Given the description of an element on the screen output the (x, y) to click on. 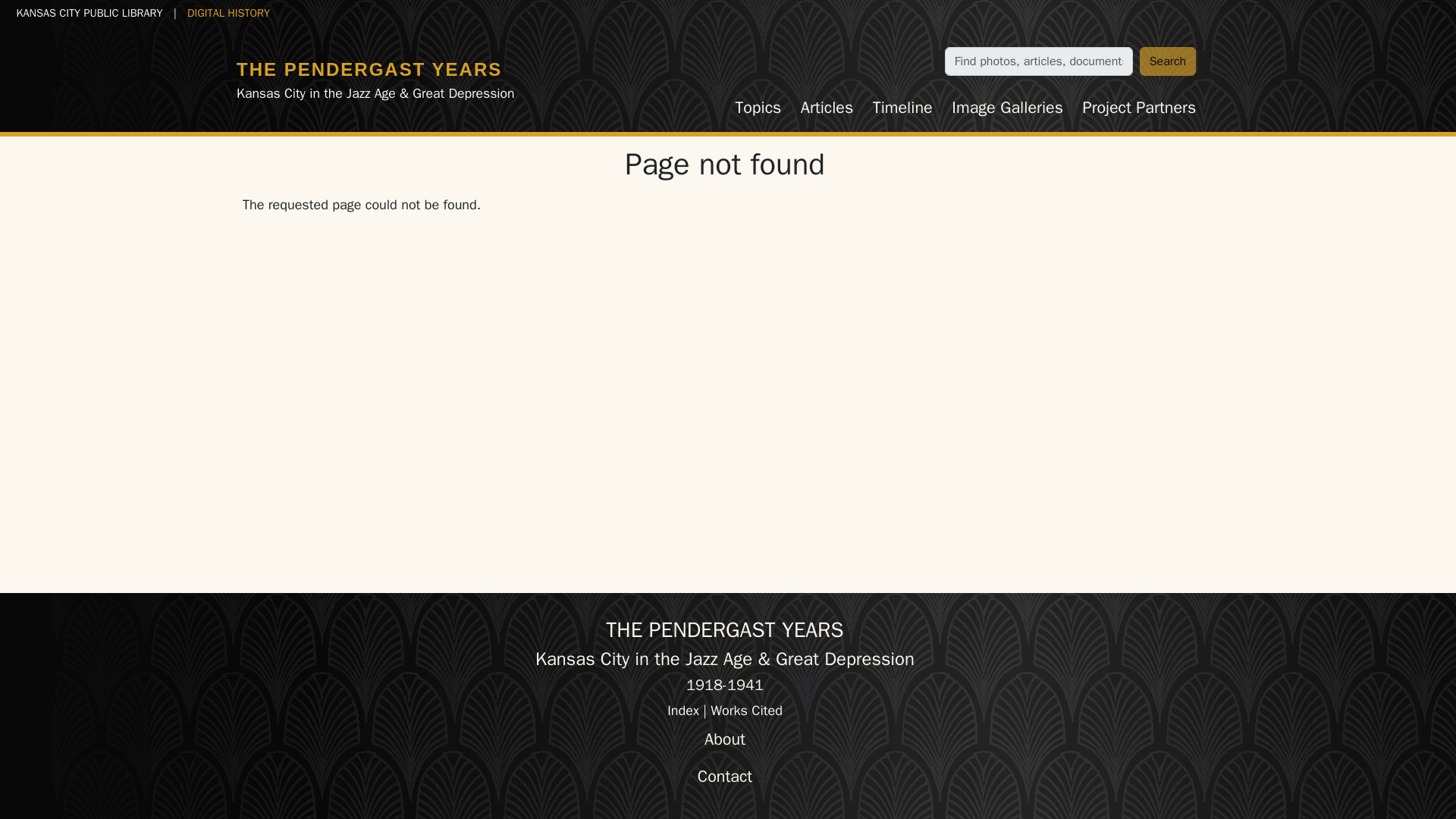
Search (1168, 61)
THE PENDERGAST YEARS (368, 68)
Index (682, 710)
Skip to main content (67, 11)
Timeline (902, 107)
Topics (757, 107)
Image Galleries (1007, 107)
Search (1168, 61)
DIGITAL HISTORY (228, 12)
Project Partners (1139, 107)
Articles (826, 107)
About (725, 739)
Works Cited (746, 710)
Contact (725, 776)
Home (368, 68)
